Given the description of an element on the screen output the (x, y) to click on. 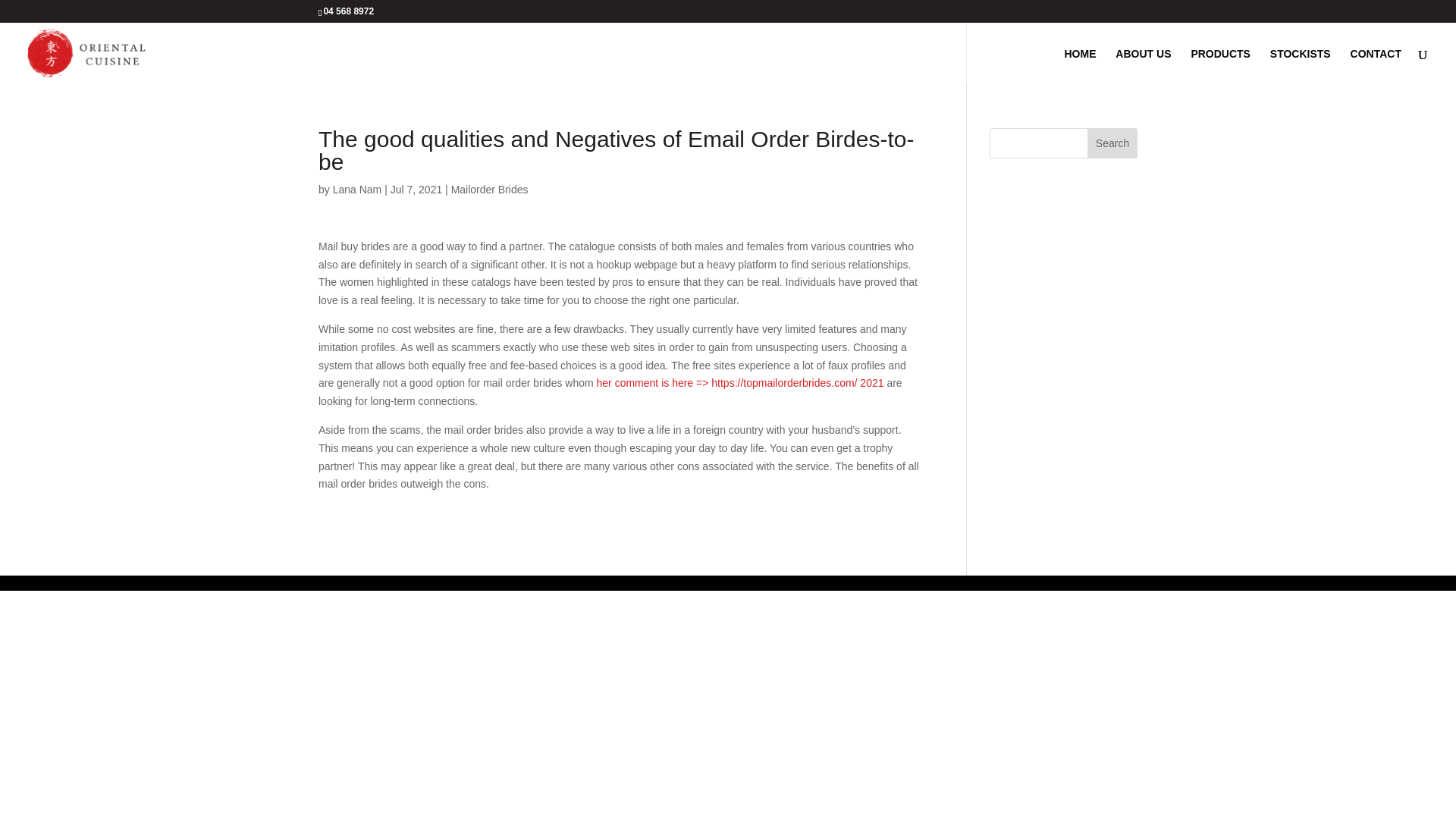
ABOUT US (1142, 66)
Mailorder Brides (489, 189)
Search (1112, 142)
Lana Nam (357, 189)
STOCKISTS (1299, 66)
PRODUCTS (1220, 66)
Posts by Lana Nam (357, 189)
Search (1112, 142)
HOME (1080, 66)
CONTACT (1375, 66)
